Given the description of an element on the screen output the (x, y) to click on. 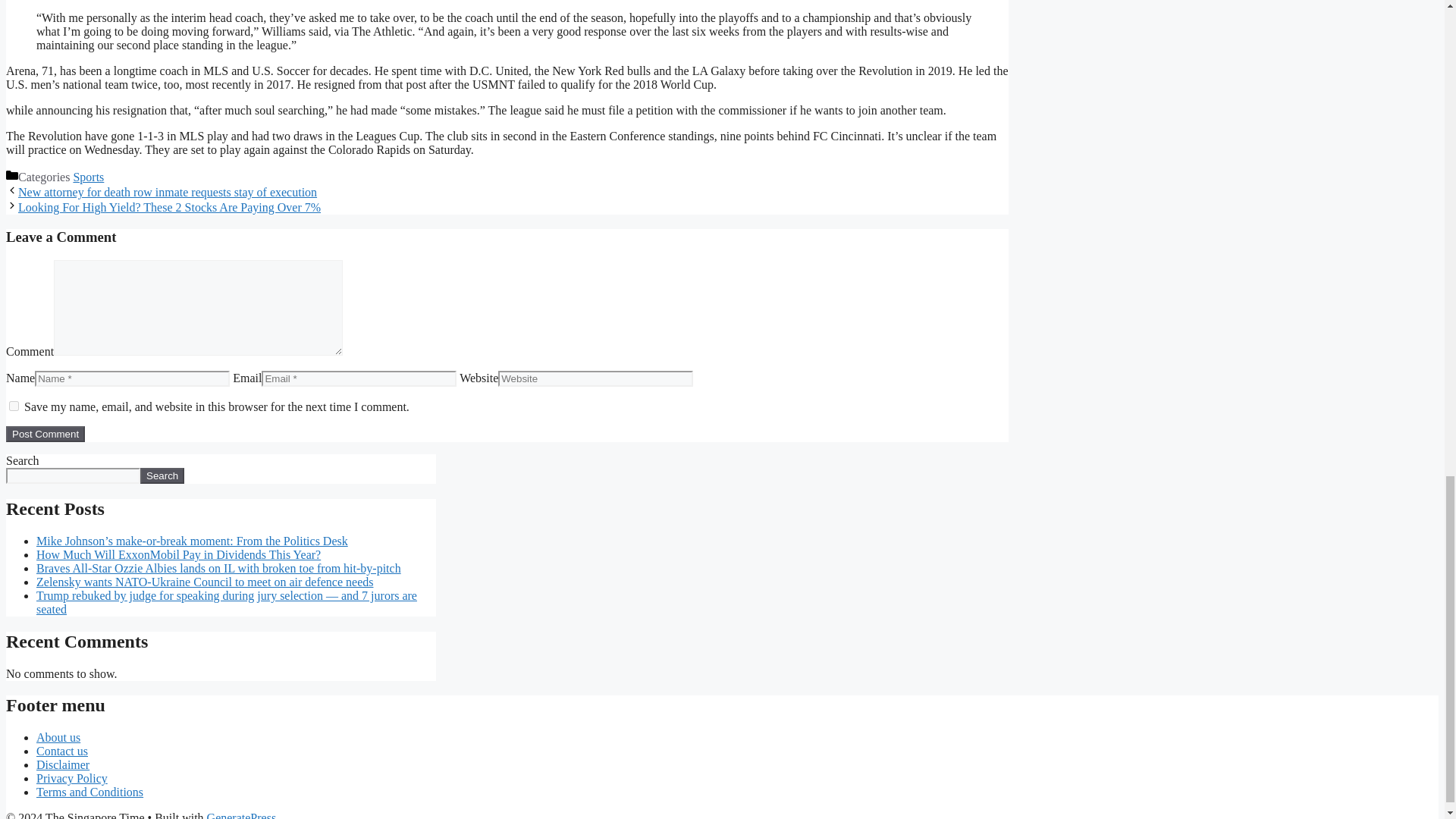
About us (58, 737)
New attorney for death row inmate requests stay of execution (167, 192)
Scroll back to top (1406, 371)
Disclaimer (62, 764)
Post Comment (44, 433)
Contact us (61, 750)
Privacy Policy (71, 778)
Sports (87, 176)
yes (13, 406)
Search (161, 475)
Post Comment (44, 433)
How Much Will ExxonMobil Pay in Dividends This Year? (178, 554)
Terms and Conditions (89, 791)
